Given the description of an element on the screen output the (x, y) to click on. 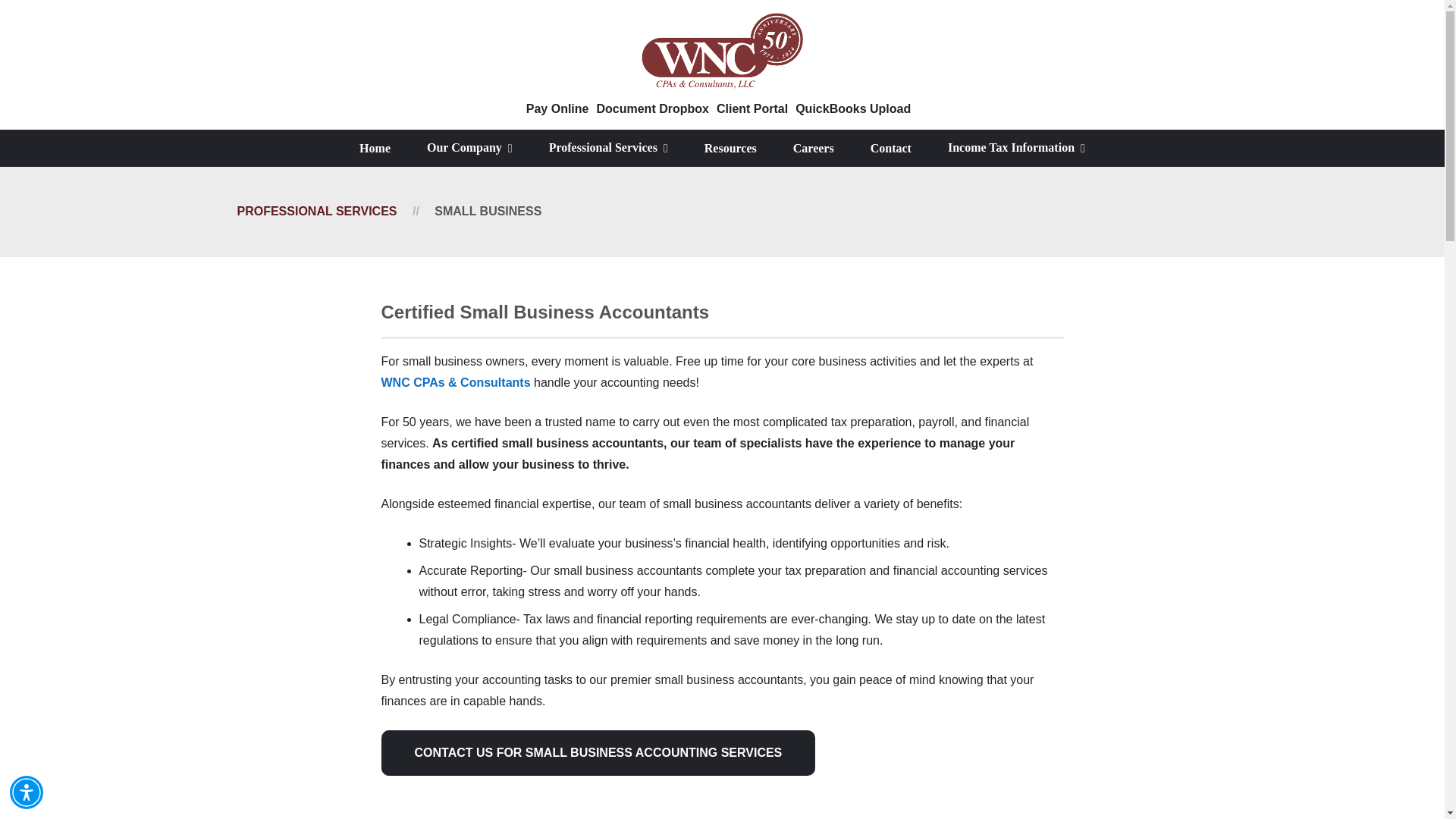
Careers (812, 148)
Accessibility Menu (26, 792)
Income Tax Information (1016, 148)
Pay Online (557, 108)
Resources (729, 148)
Document Dropbox (651, 108)
Client Portal (751, 108)
Our Company (470, 148)
QuickBooks Upload (852, 108)
Contact (890, 148)
Professional Services (608, 148)
Home (374, 148)
